Given the description of an element on the screen output the (x, y) to click on. 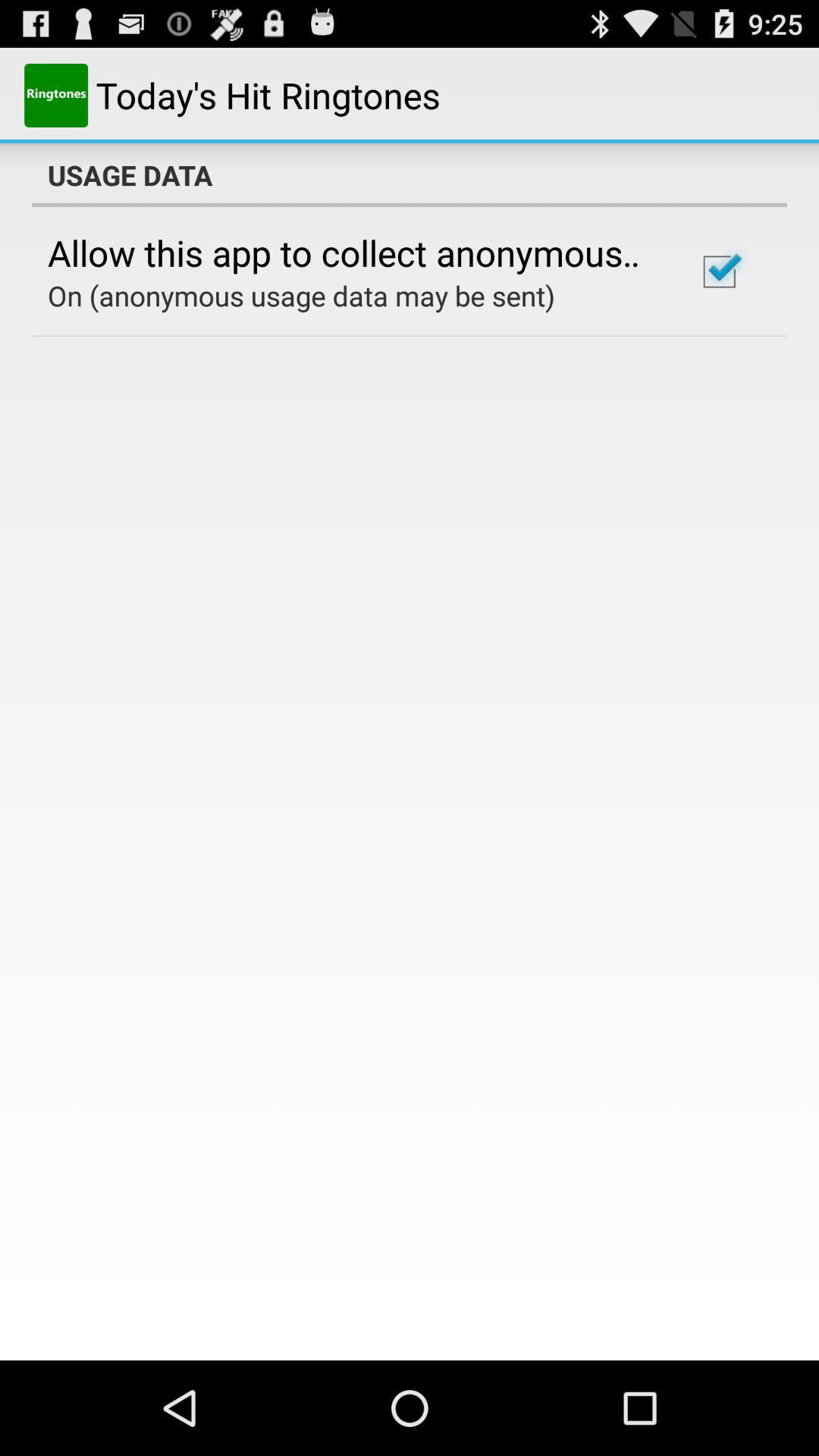
open the allow this app icon (351, 252)
